Given the description of an element on the screen output the (x, y) to click on. 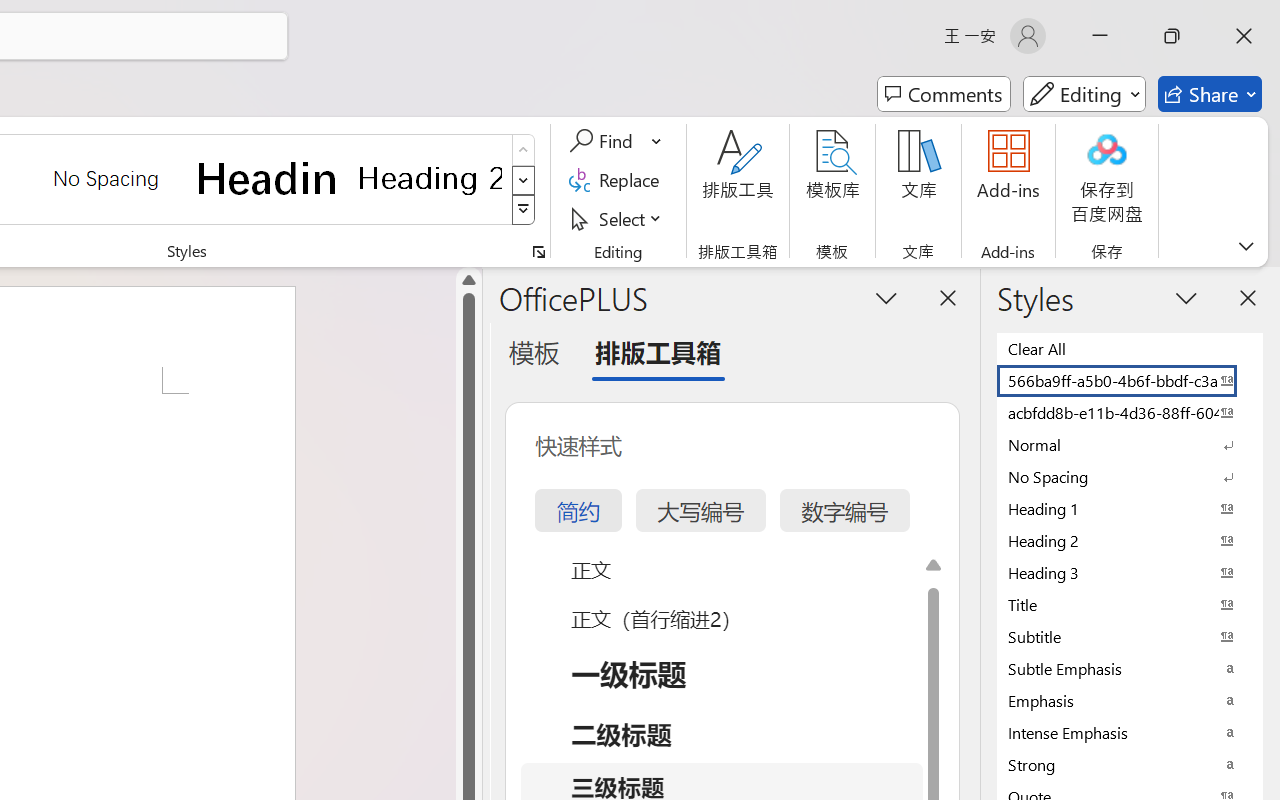
Row Down (523, 180)
Subtle Emphasis (1130, 668)
